Given the description of an element on the screen output the (x, y) to click on. 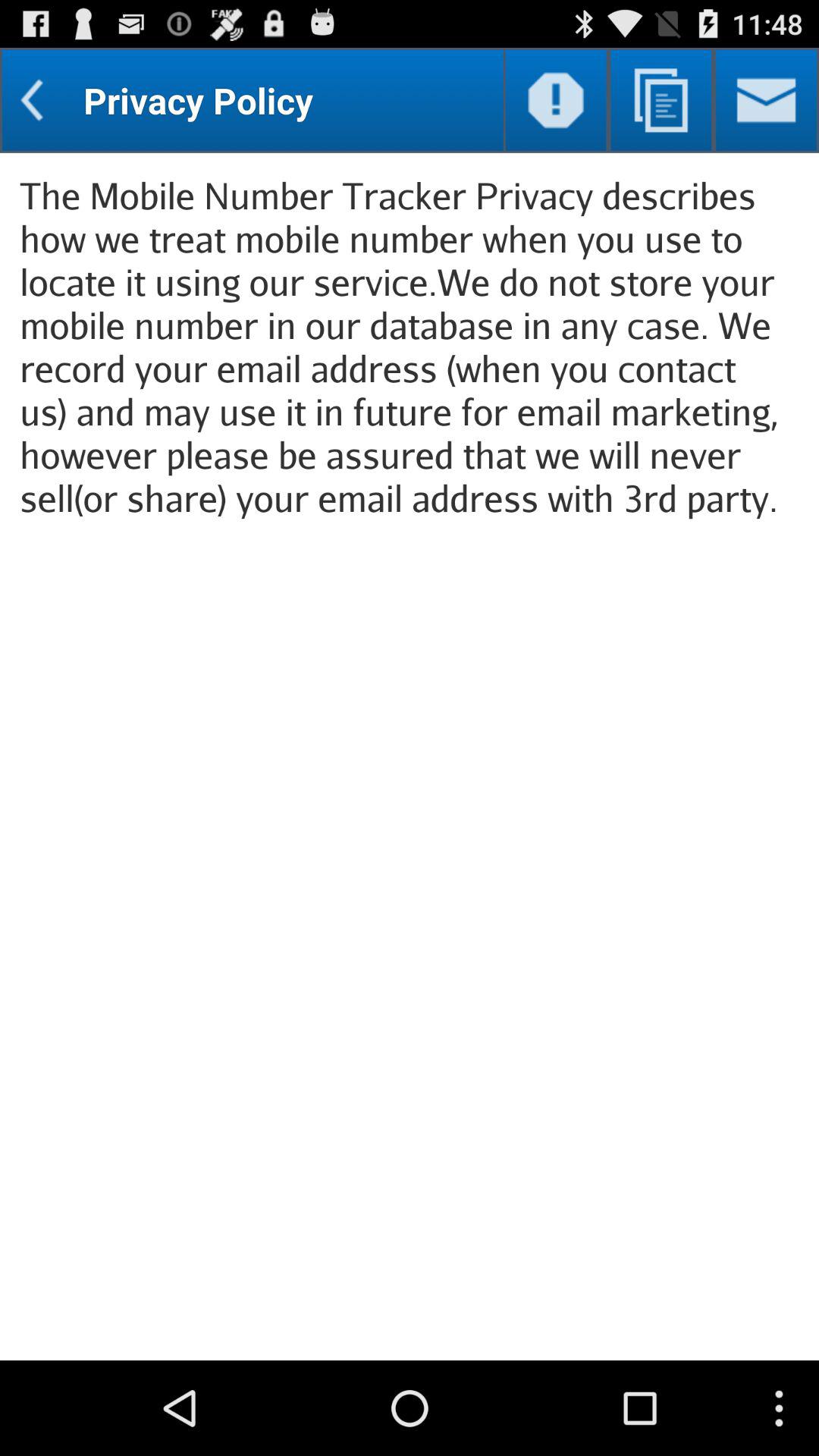
choose icon to the right of privacy policy item (555, 99)
